Given the description of an element on the screen output the (x, y) to click on. 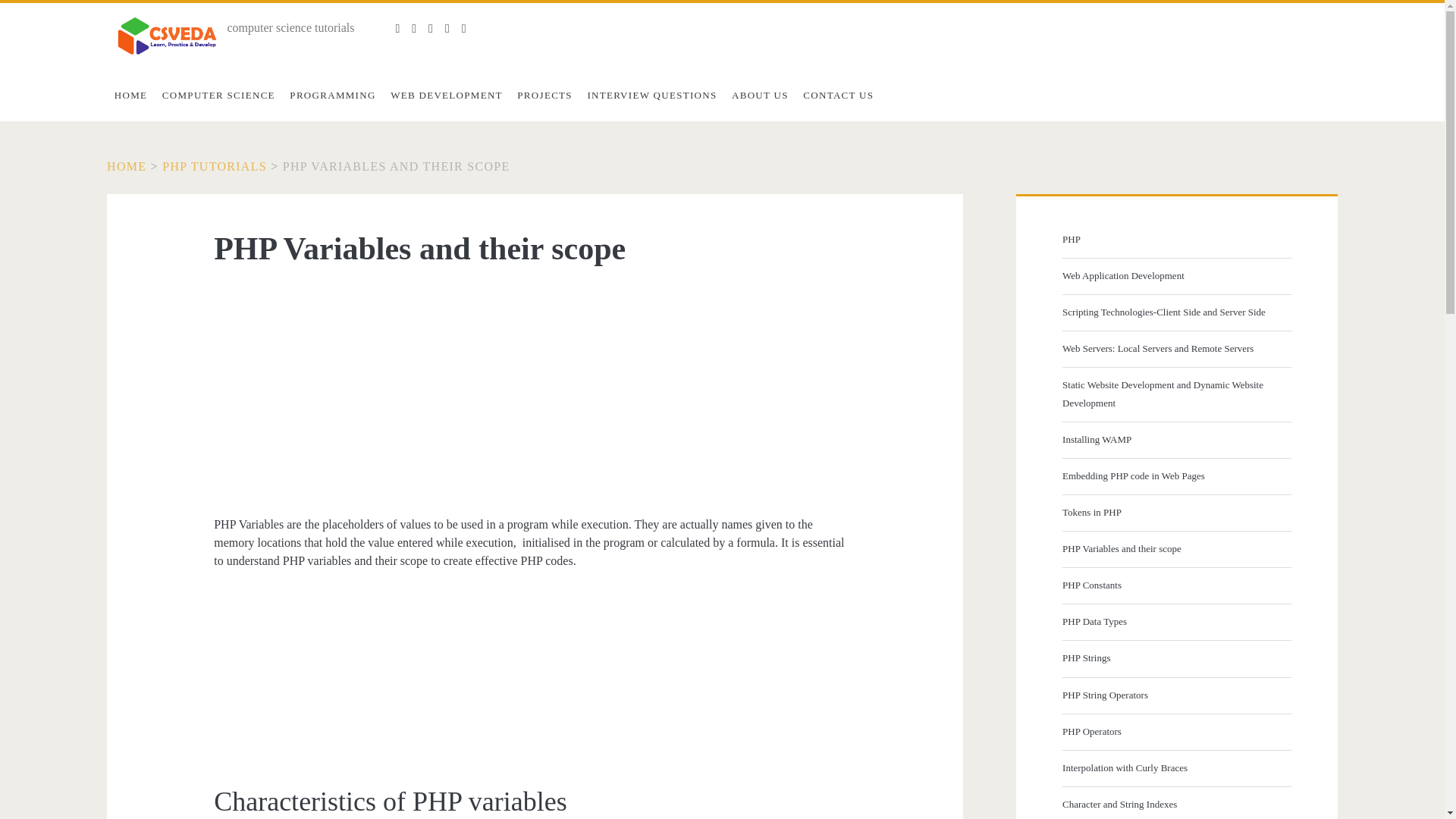
HOME (130, 95)
PHP Tutorials (213, 165)
ABOUT US (758, 95)
WEB DEVELOPMENT (445, 95)
PROJECTS (545, 95)
Scripting Technologies-Client Side and Server Side (1174, 312)
Advertisement (533, 683)
PROGRAMMING (333, 95)
PHP (1174, 239)
